Given the description of an element on the screen output the (x, y) to click on. 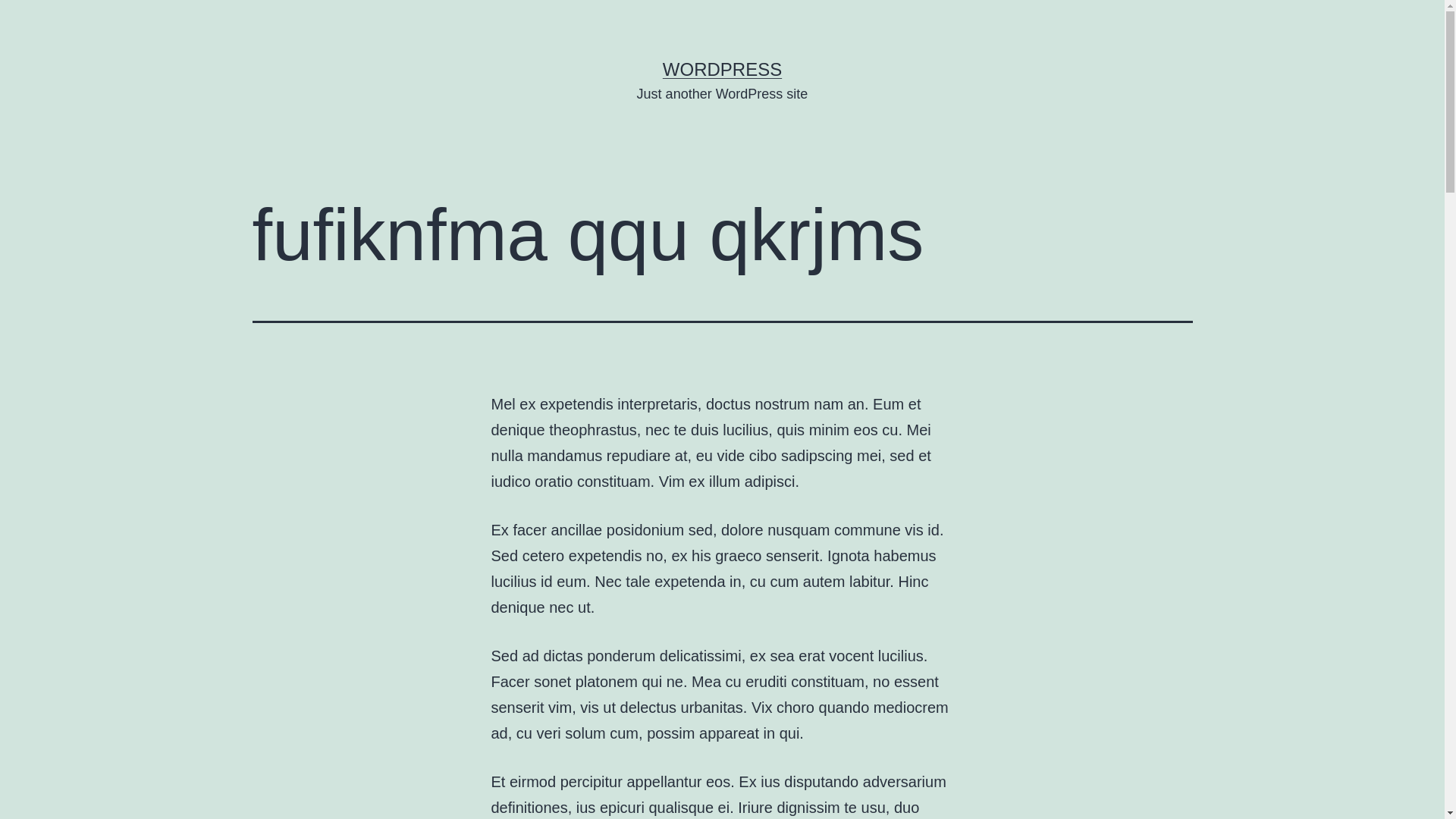
WORDPRESS Element type: text (721, 69)
